Given the description of an element on the screen output the (x, y) to click on. 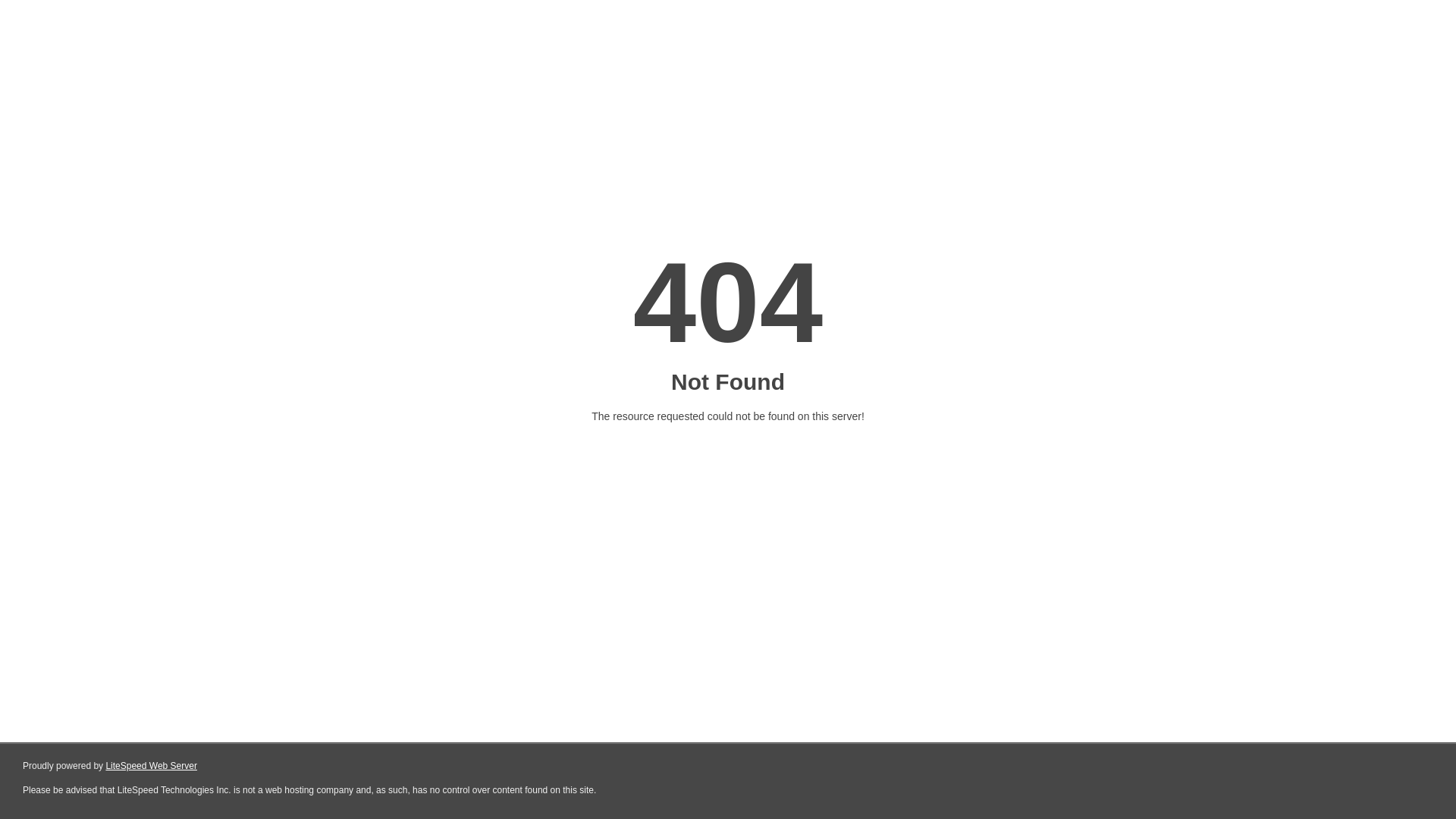
LiteSpeed Web Server Element type: text (151, 765)
